Given the description of an element on the screen output the (x, y) to click on. 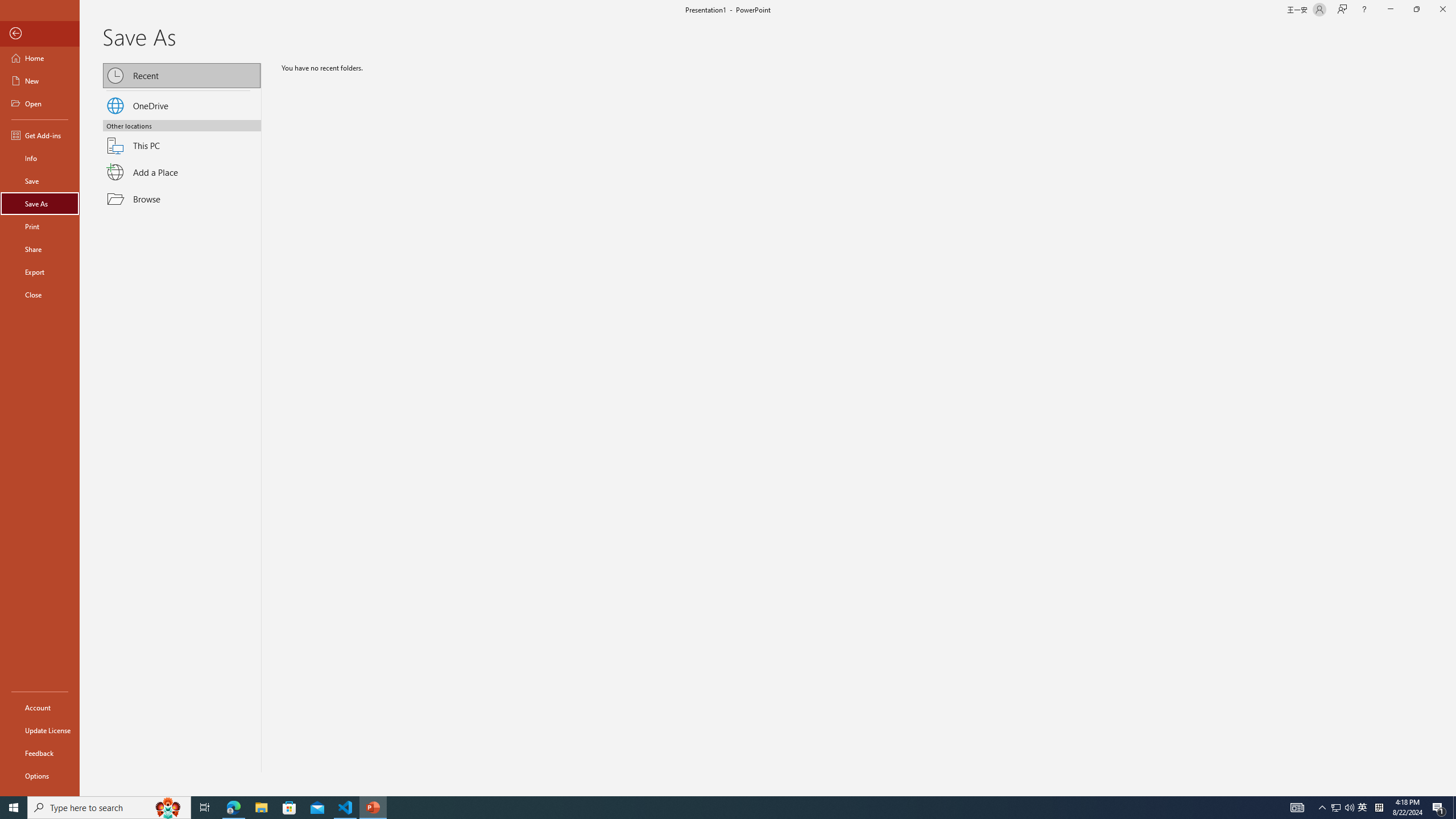
Recent (182, 75)
OneDrive (182, 103)
Export (40, 271)
Save As (40, 203)
Info (40, 157)
Account (40, 707)
Update License (40, 730)
Add a Place (182, 172)
